Given the description of an element on the screen output the (x, y) to click on. 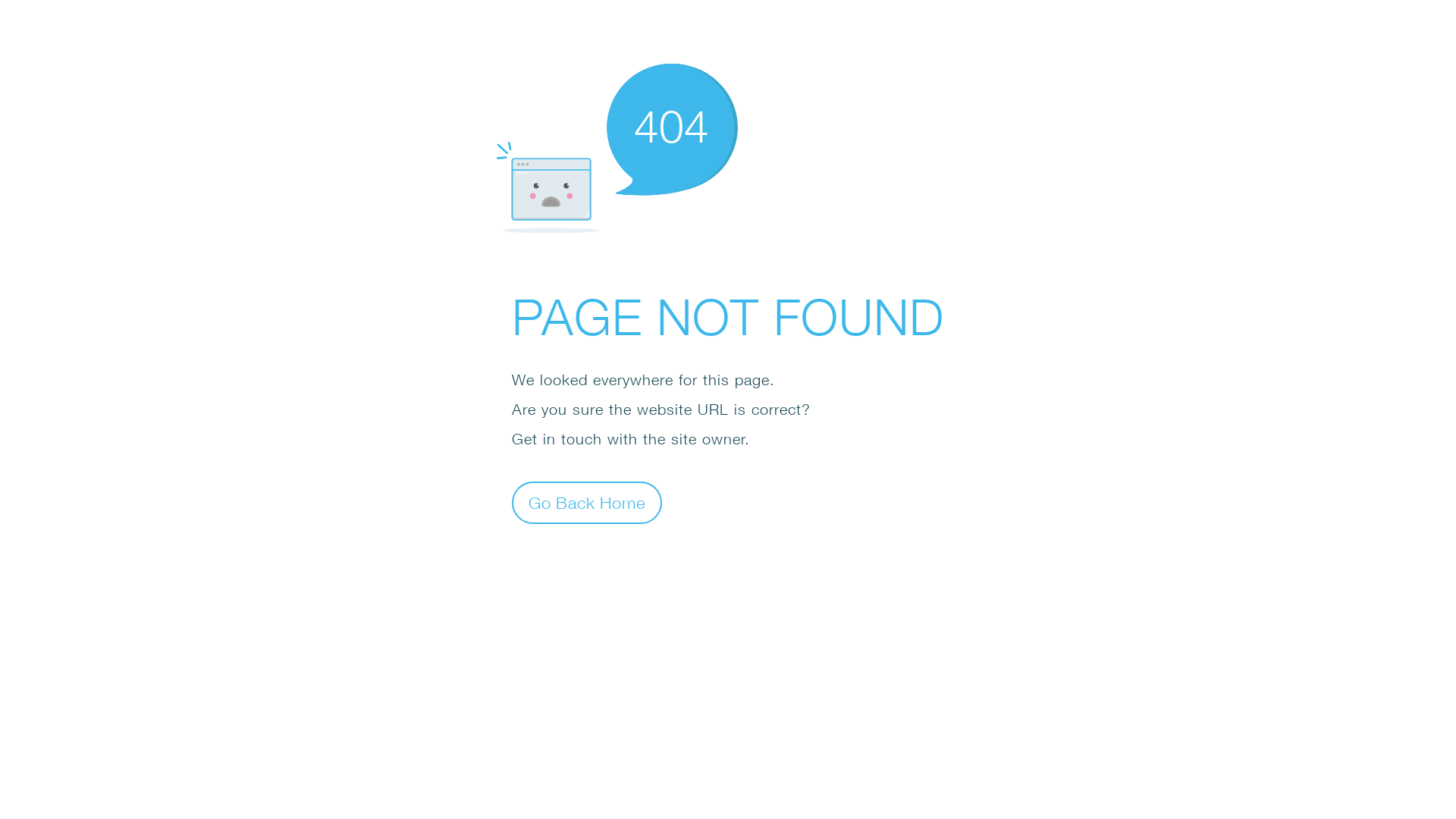
Go Back Home Element type: text (586, 502)
